Given the description of an element on the screen output the (x, y) to click on. 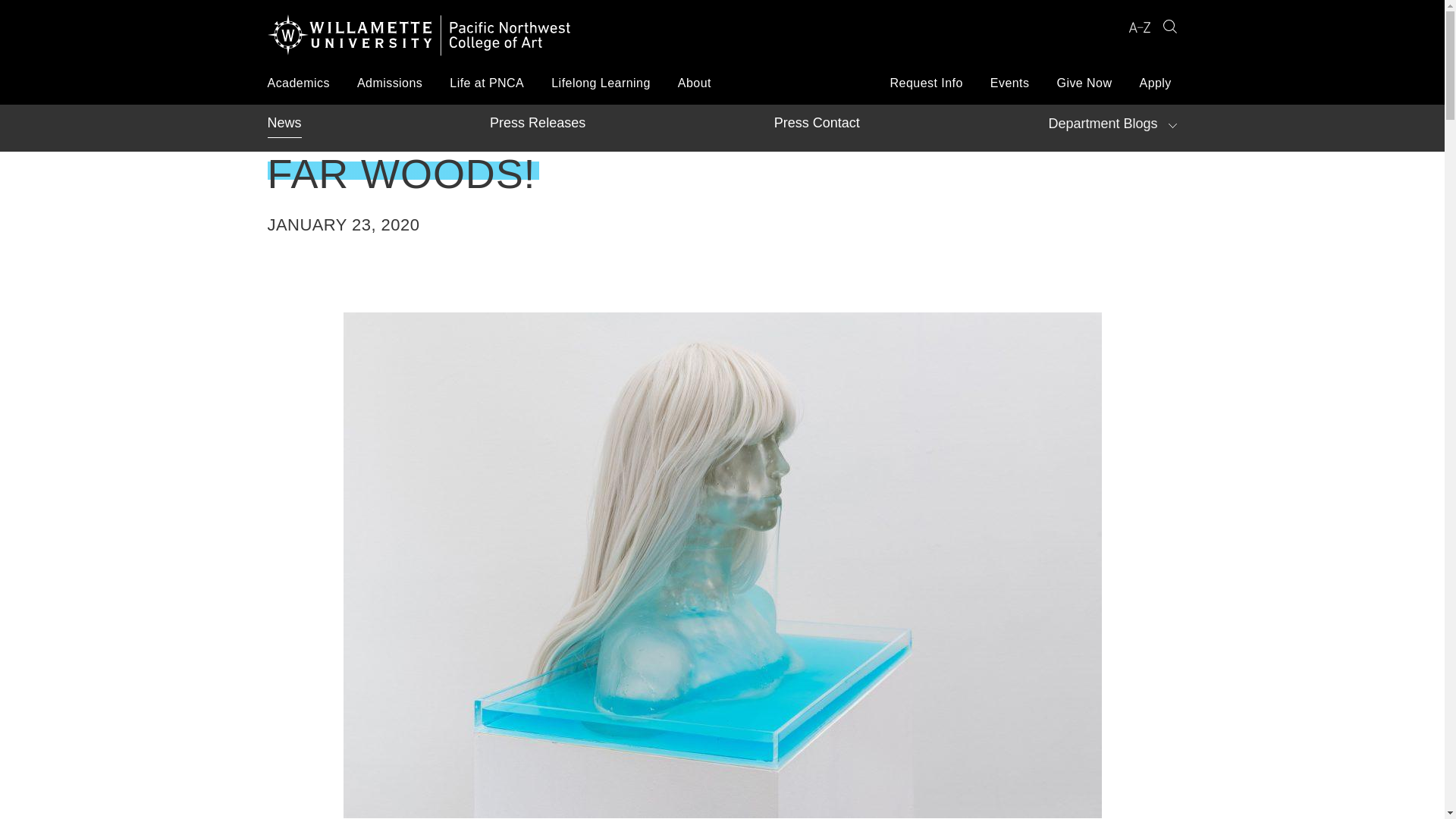
PNCA (418, 37)
Academics (297, 83)
Group 2 (1168, 26)
Search (1168, 27)
Created with Sketch. (1139, 26)
Group 2 (1168, 27)
